Given the description of an element on the screen output the (x, y) to click on. 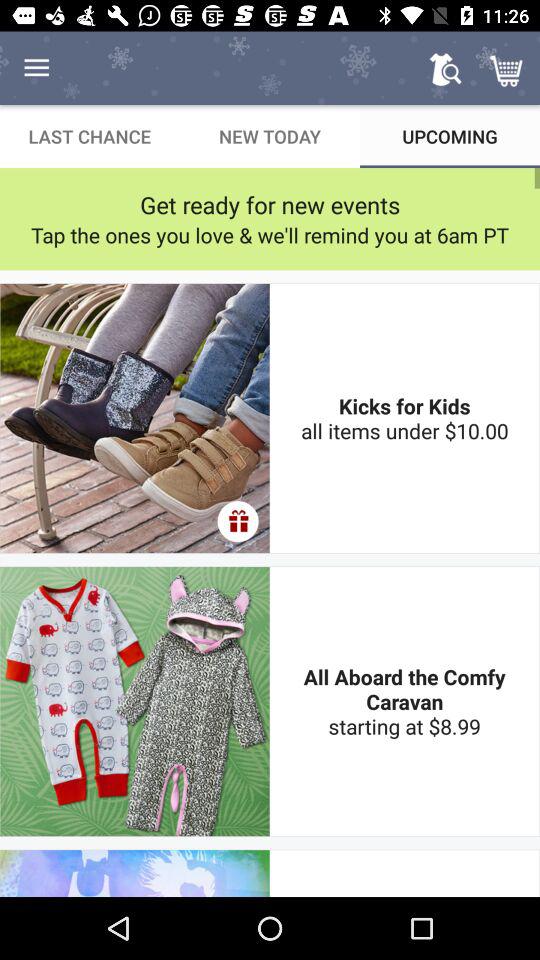
select the item above last chance item (36, 68)
